Given the description of an element on the screen output the (x, y) to click on. 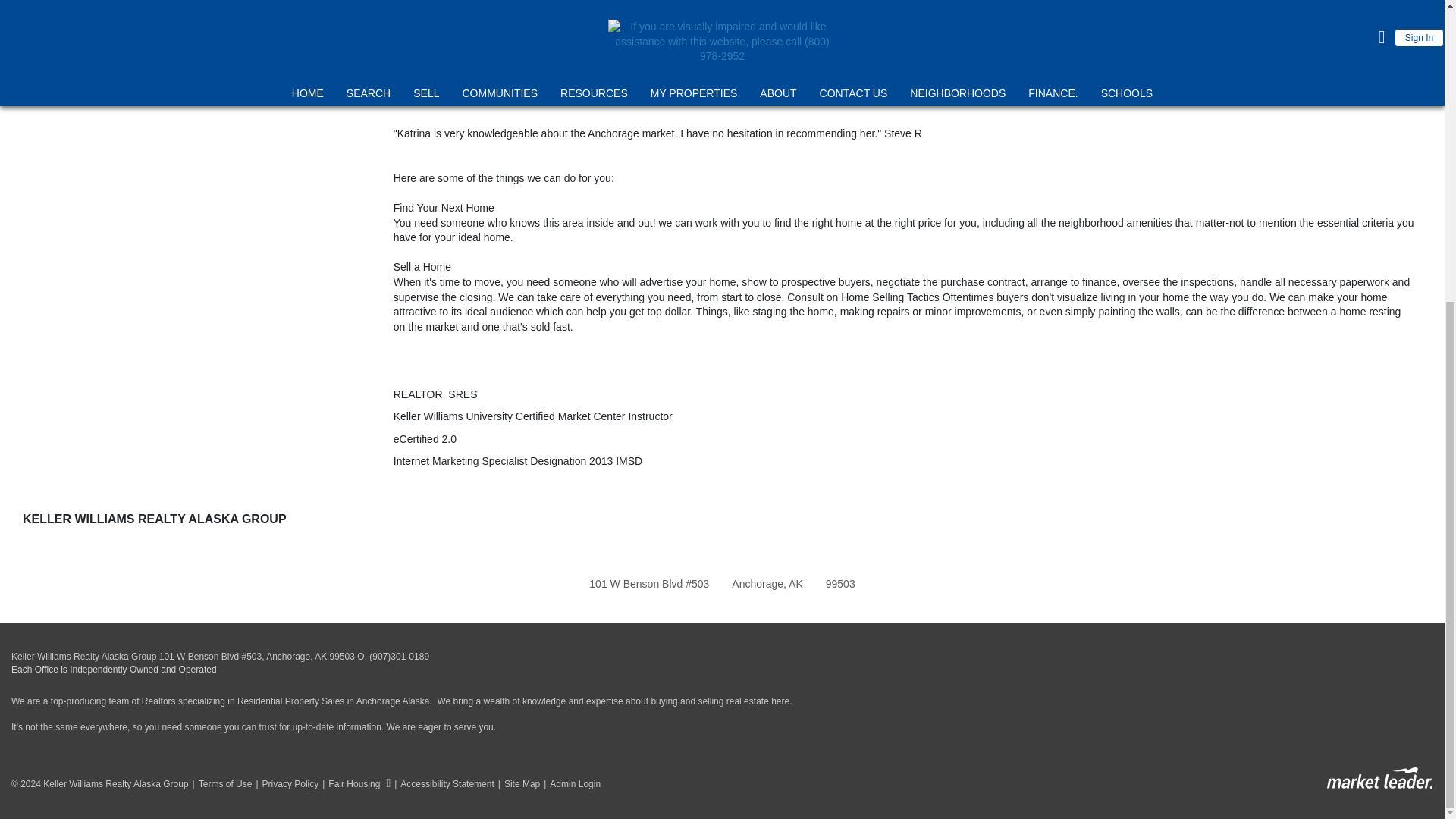
Powered By Market Leader (1379, 778)
